Given the description of an element on the screen output the (x, y) to click on. 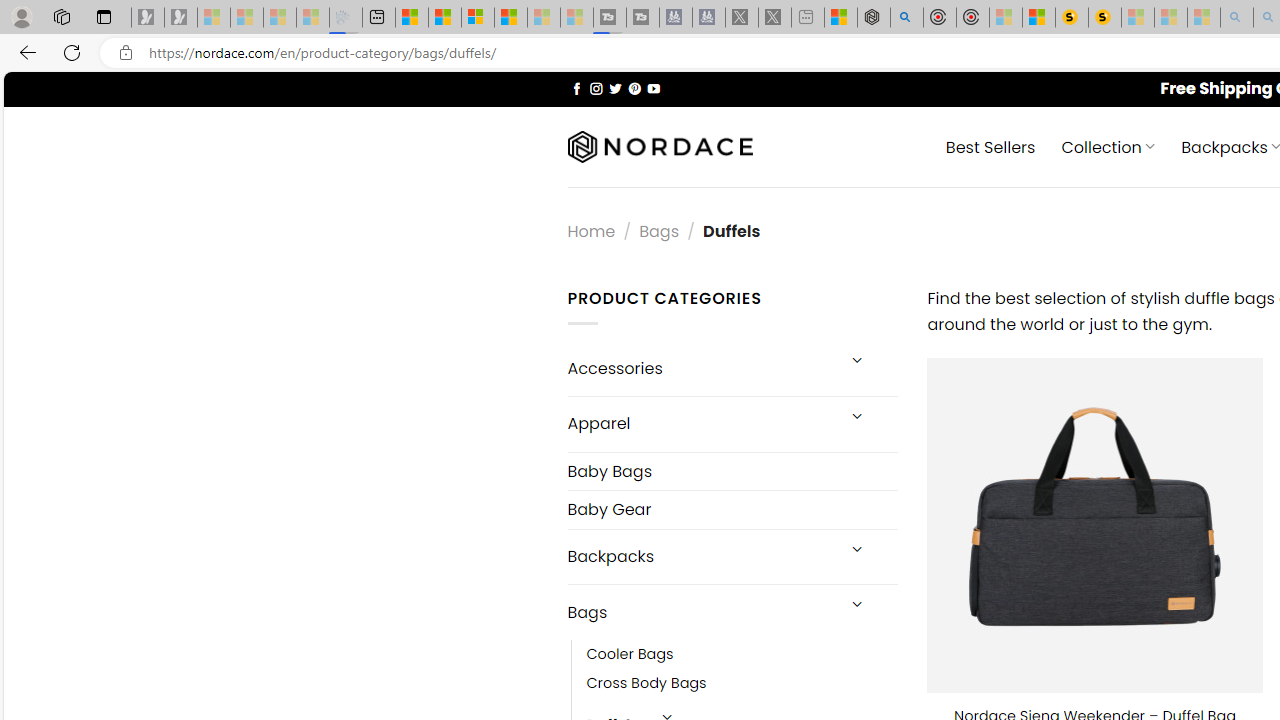
Newsletter Sign Up - Sleeping (181, 17)
Cross Body Bags (646, 683)
Cross Body Bags (742, 683)
Baby Gear (732, 509)
Baby Gear (732, 510)
Follow on YouTube (653, 88)
 Best Sellers (989, 146)
Follow on Facebook (576, 88)
